Given the description of an element on the screen output the (x, y) to click on. 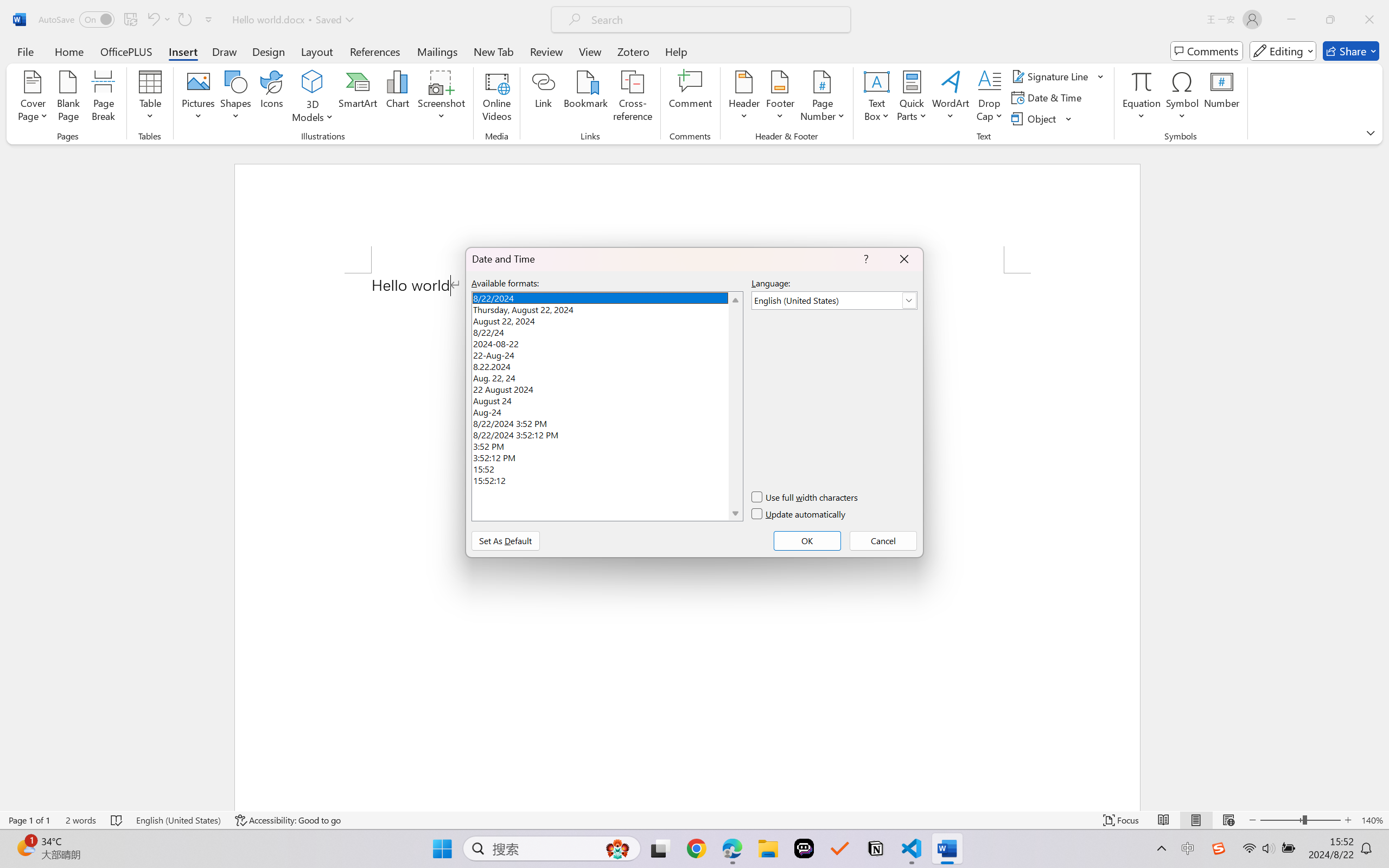
Zoom 100% (1364, 837)
Auto-detect (1272, 136)
Hide Ink (709, 51)
Delete (413, 51)
Reject (594, 62)
Convert with Options... (259, 74)
Show Comments (499, 51)
Compare (543, 62)
